Given the description of an element on the screen output the (x, y) to click on. 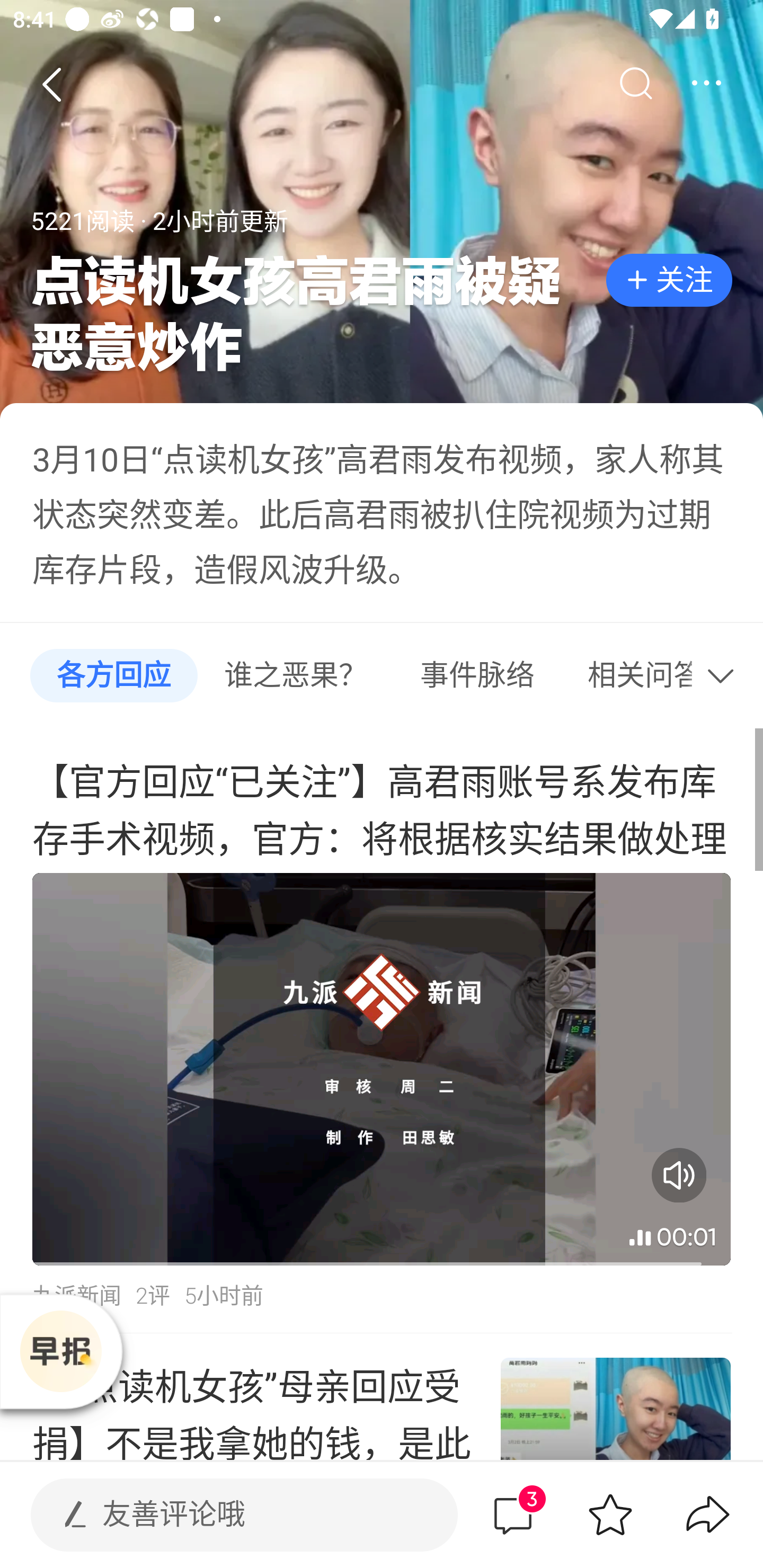
 (50, 83)
 (634, 83)
 (705, 83)
 关注 (668, 280)
各方回应 (113, 675)
谁之恶果？ (295, 675)
事件脉络 (476, 675)
相关问答 (627, 675)
 (724, 675)
音量开关 (678, 1174)
播放器 (60, 1351)
发表评论  友善评论哦 发表评论 (228, 1514)
 3 (512, 1514)
收藏  (609, 1514)
分享  (707, 1514)
